Given the description of an element on the screen output the (x, y) to click on. 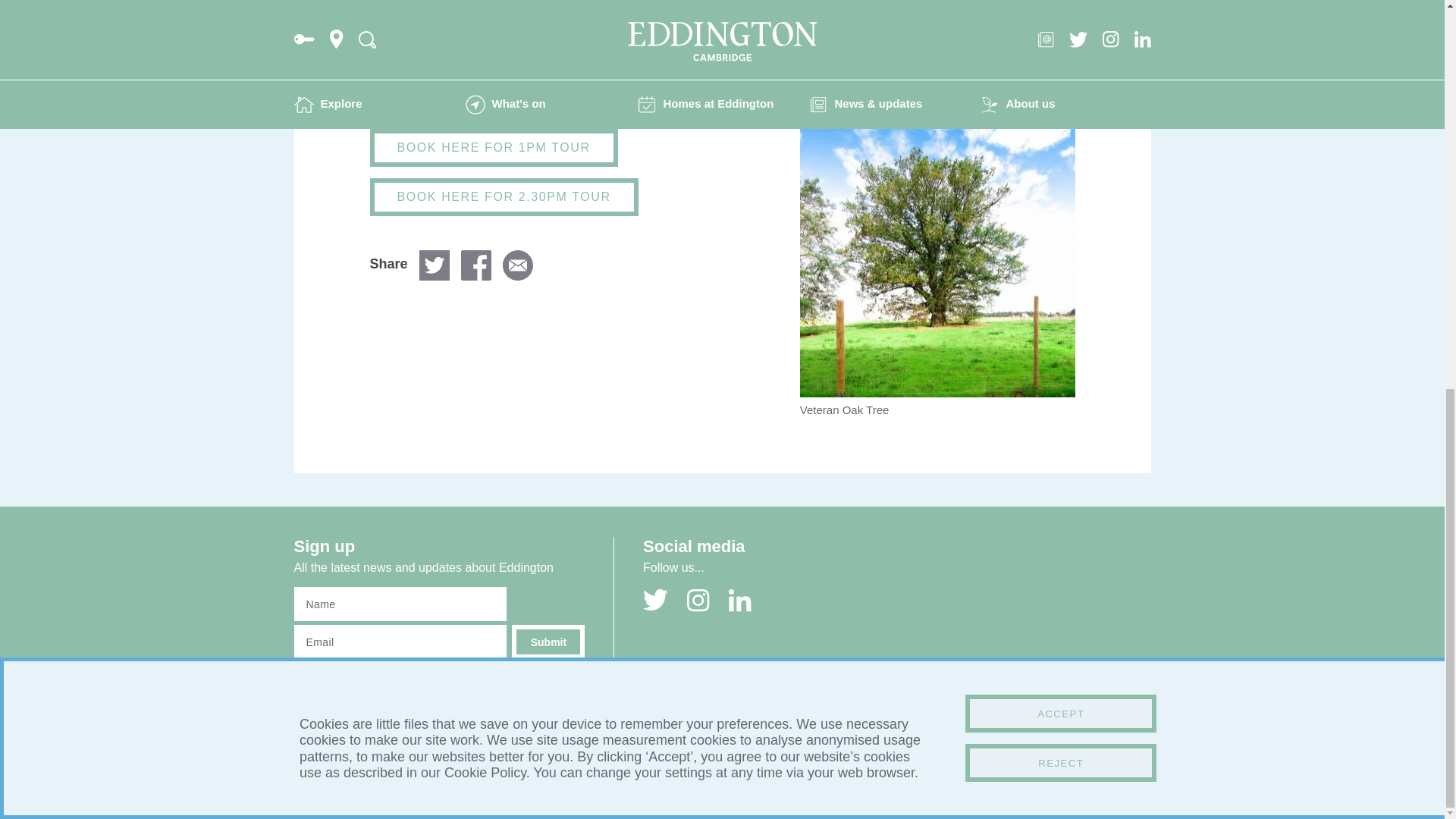
Share this page on Twitter (434, 265)
Go to Eddington's LinkedIn page (740, 599)
Go to Eddington's Instagram profile (698, 599)
Location (593, 695)
Go to Eddington's LinkedIn page (740, 599)
BOOK HERE FOR 11AM TOUR (497, 98)
BOOK HERE FOR 2.30PM TOUR (504, 197)
Go to Eddington's Twitter feed (655, 599)
Email a link of this page (517, 265)
Share this page on Facebook (476, 265)
